Given the description of an element on the screen output the (x, y) to click on. 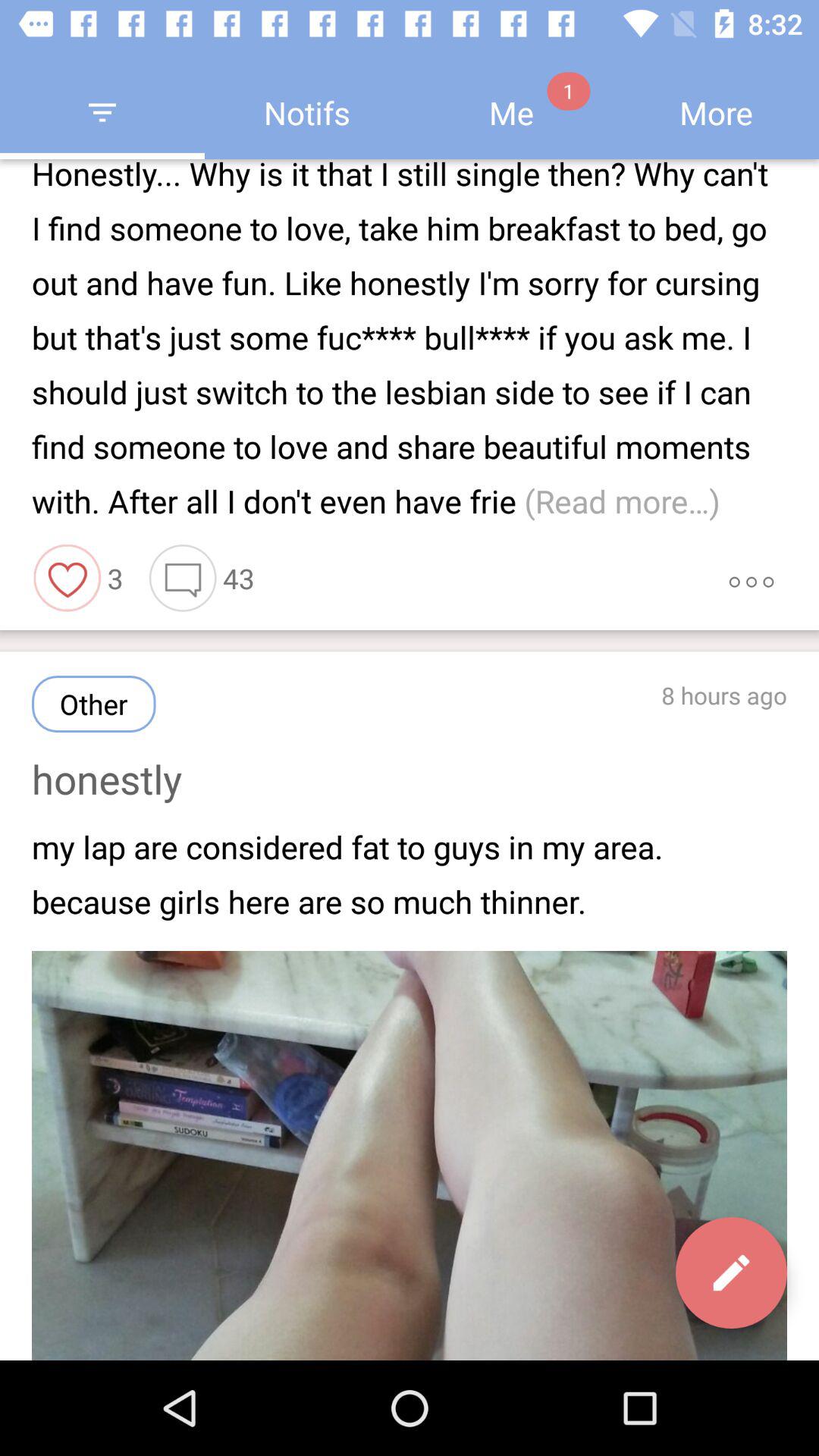
turn on the item to the left of 3 (67, 578)
